Given the description of an element on the screen output the (x, y) to click on. 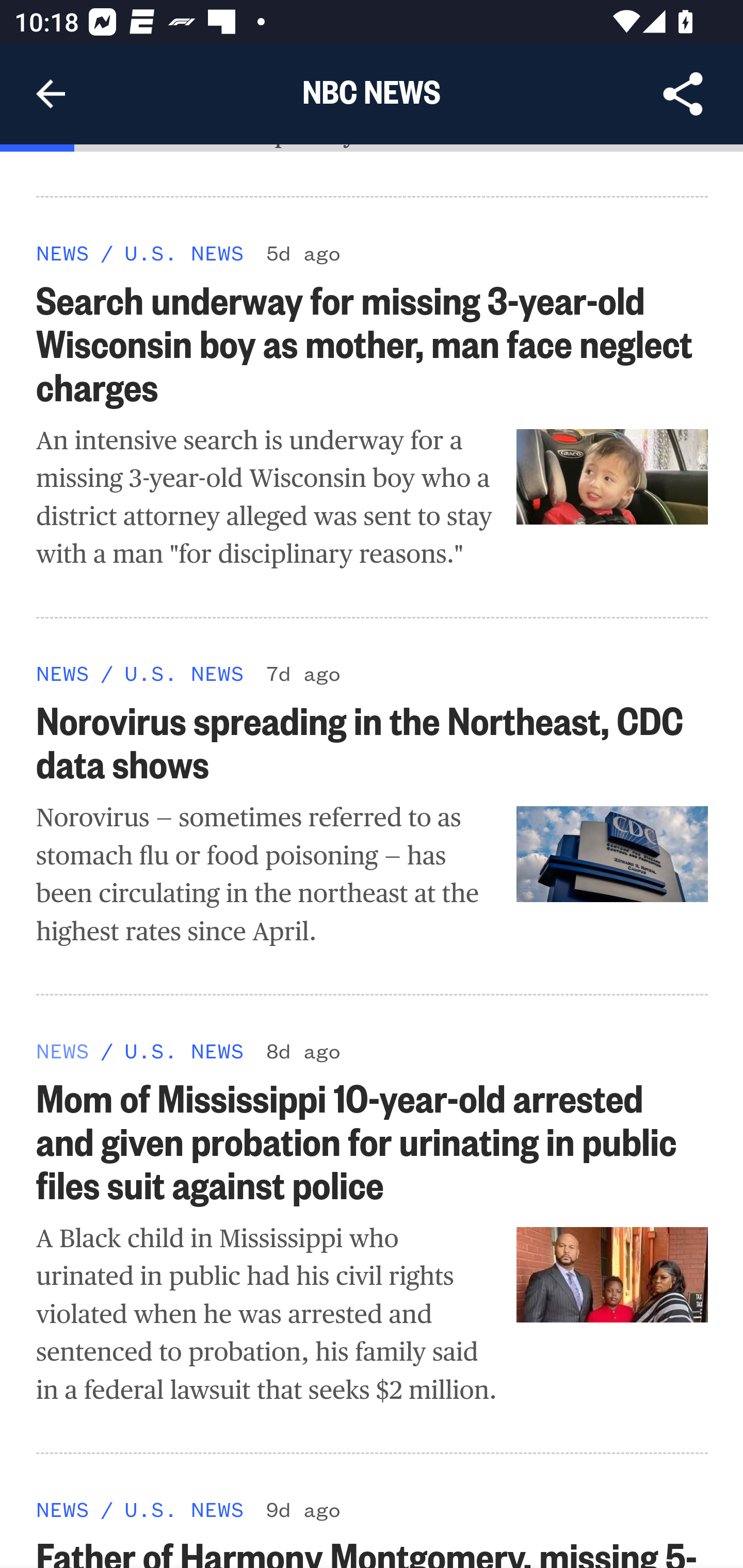
Navigate up (50, 93)
Share Article, button (683, 94)
NEWS NEWS NEWS (63, 251)
U.S. NEWS U.S. NEWS U.S. NEWS (183, 251)
NEWS NEWS NEWS (63, 673)
U.S. NEWS U.S. NEWS U.S. NEWS (183, 673)
norovirus-spreading-northeast-cdc-rcna140260 (612, 854)
NEWS NEWS NEWS (63, 1050)
U.S. NEWS U.S. NEWS U.S. NEWS (183, 1050)
NEWS NEWS NEWS (63, 1507)
U.S. NEWS U.S. NEWS U.S. NEWS (183, 1507)
